Given the description of an element on the screen output the (x, y) to click on. 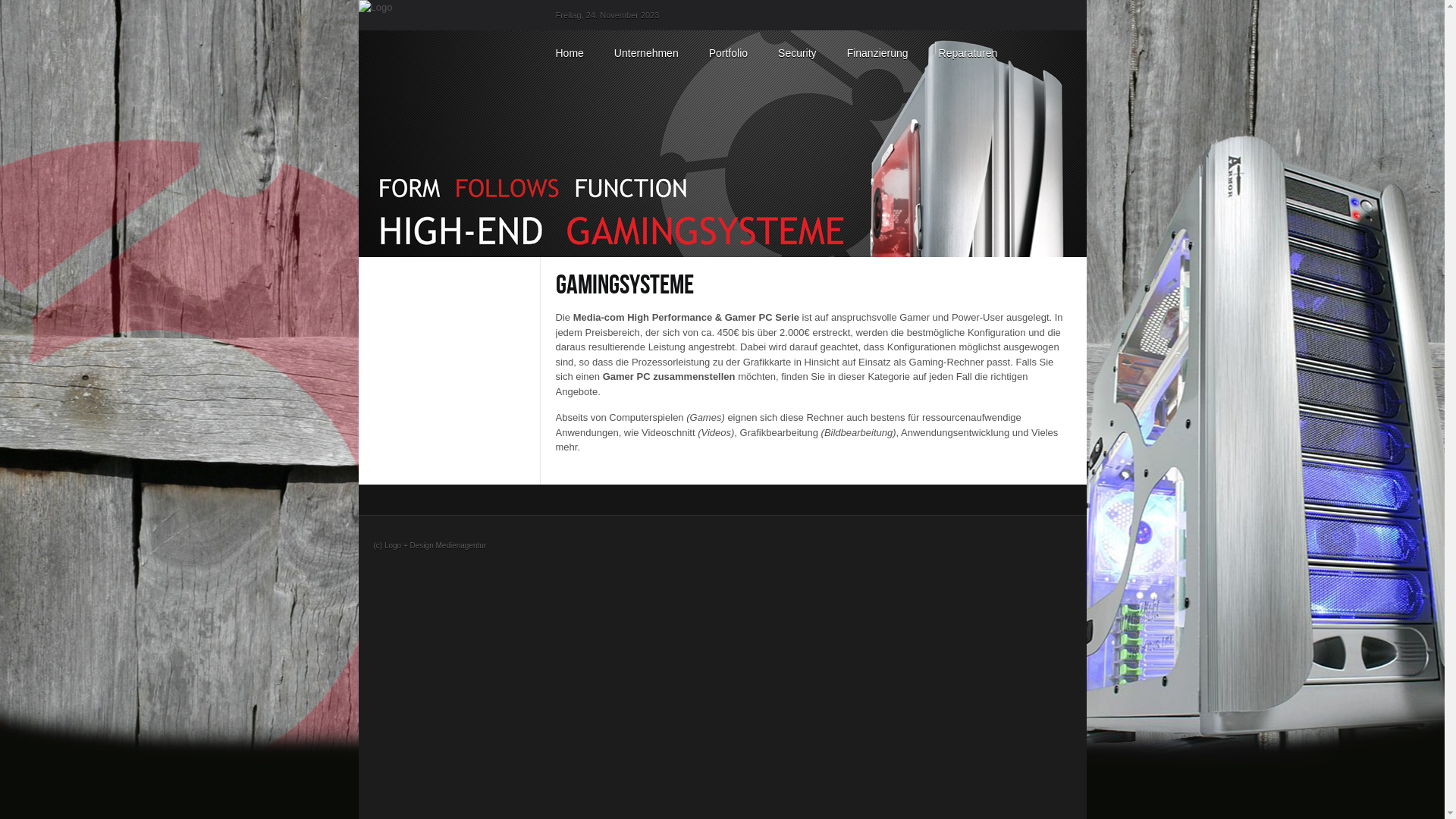
Home Element type: text (568, 52)
Reparaturen Element type: text (968, 52)
Finanzierung Element type: text (877, 52)
